Given the description of an element on the screen output the (x, y) to click on. 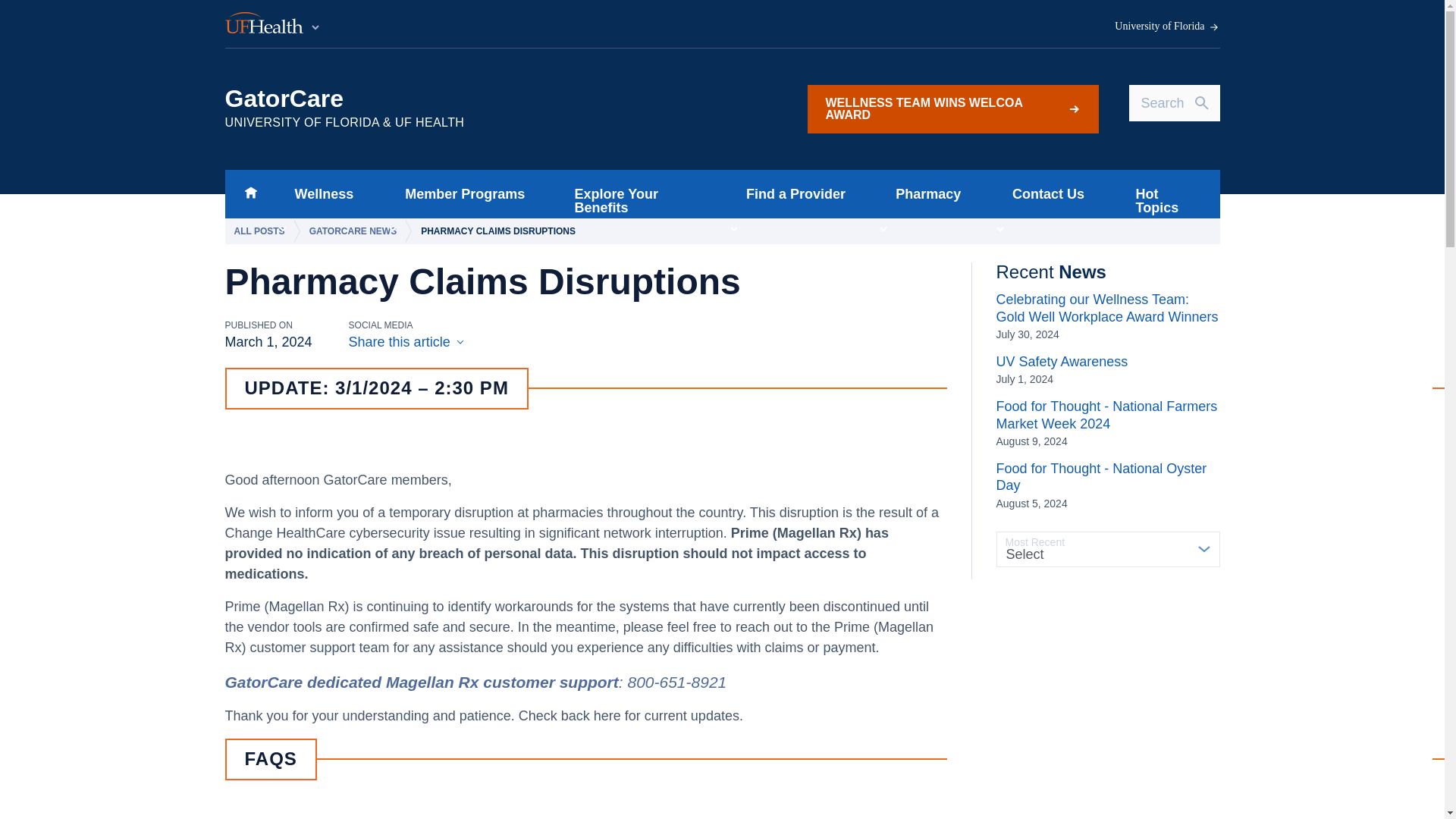
WELLNESS TEAM WINS WELCOA AWARD (951, 109)
Home (250, 193)
Wellness (319, 193)
Member Programs (460, 193)
University of Florida (1167, 26)
UF Health (272, 24)
